Given the description of an element on the screen output the (x, y) to click on. 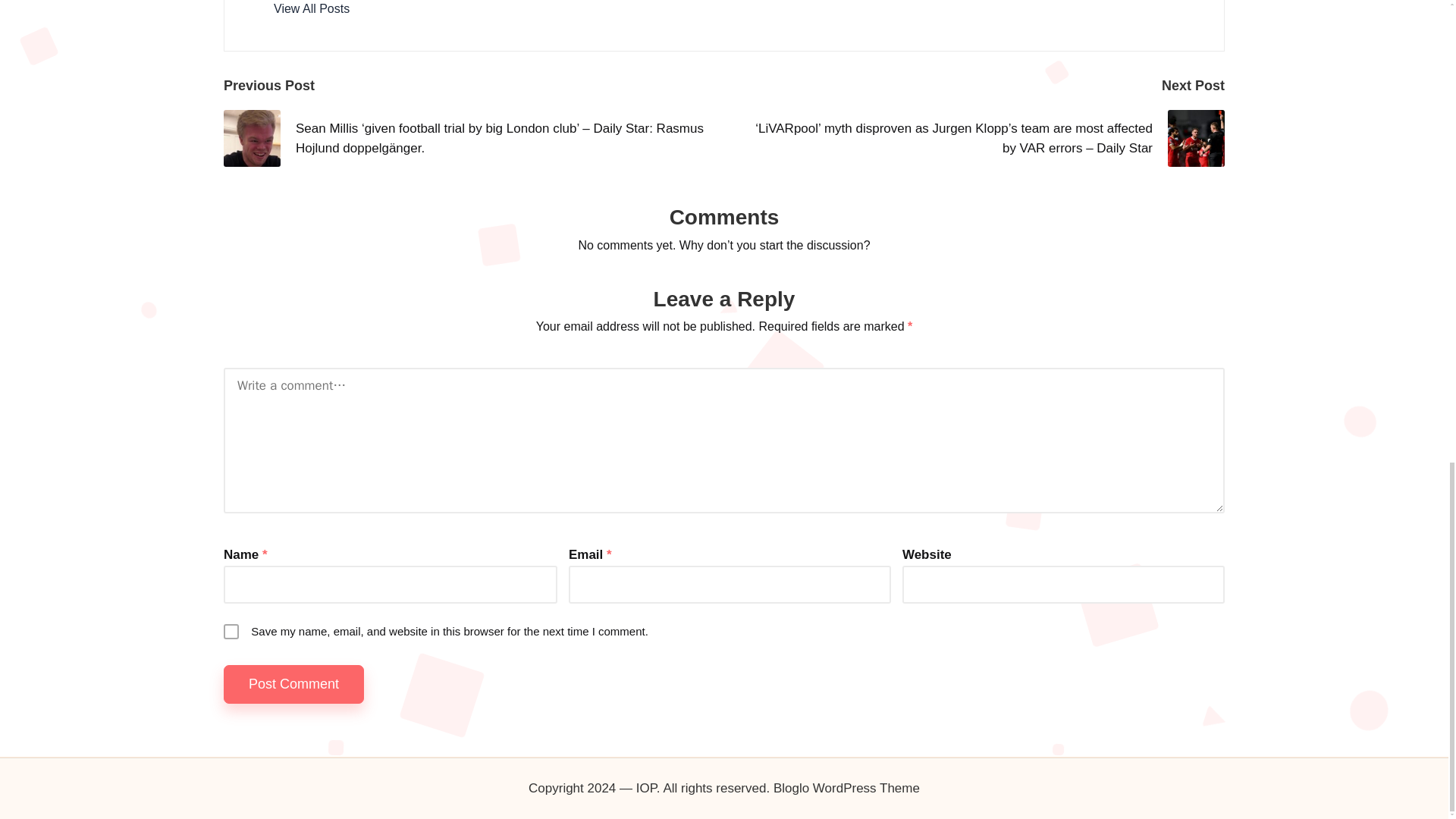
Post Comment (294, 684)
View All Posts (311, 9)
Post Comment (294, 684)
Bloglo WordPress Theme (846, 788)
yes (231, 631)
